Given the description of an element on the screen output the (x, y) to click on. 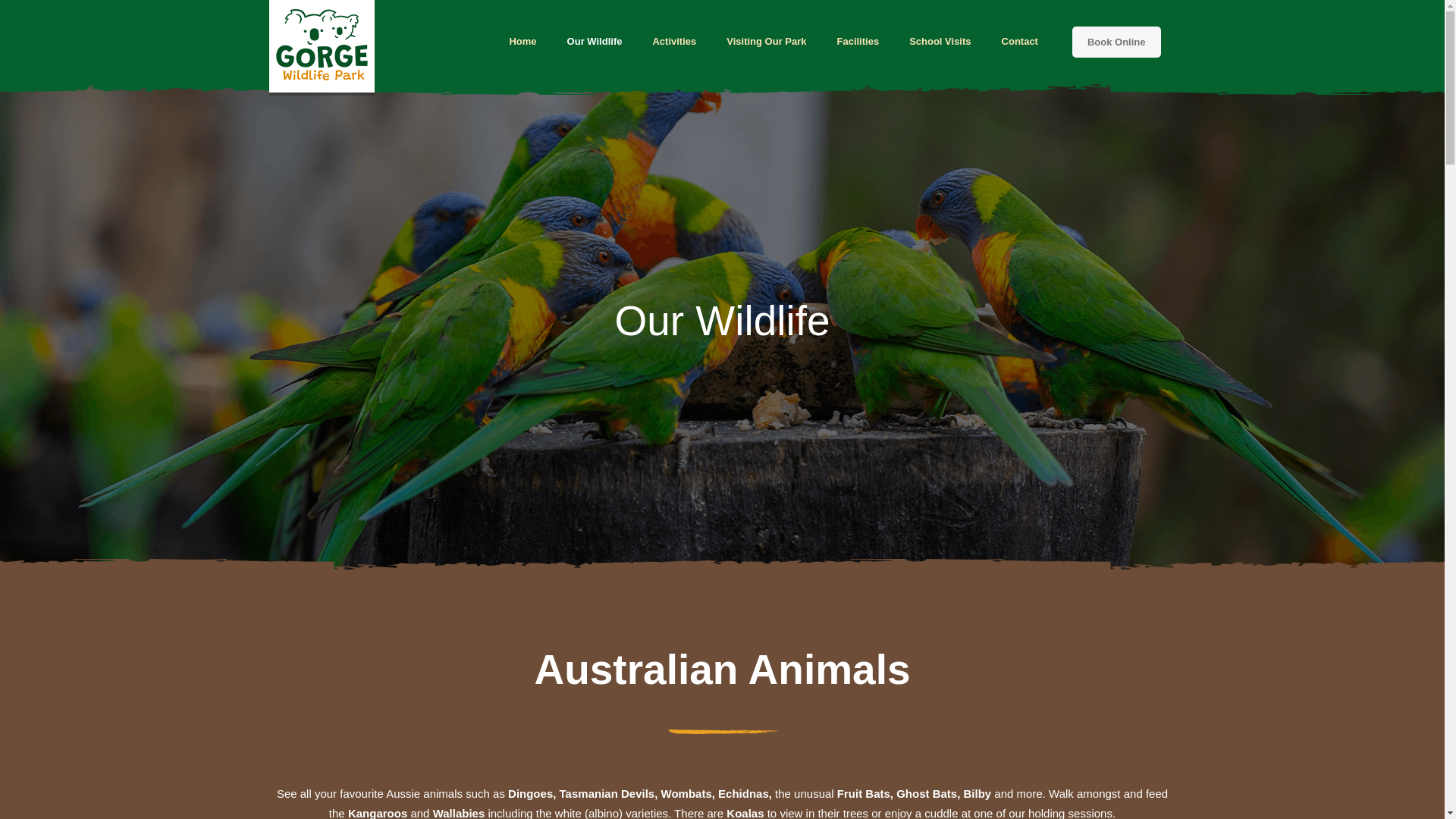
Activities Element type: text (674, 41)
Contact Element type: text (1019, 41)
Home Element type: text (522, 41)
Book Online Element type: text (1116, 40)
School Visits Element type: text (939, 41)
Gorge Wildlife Park Element type: hover (320, 49)
Our Wildlife Element type: text (594, 41)
Visiting Our Park Element type: text (766, 41)
Facilities Element type: text (858, 41)
